Given the description of an element on the screen output the (x, y) to click on. 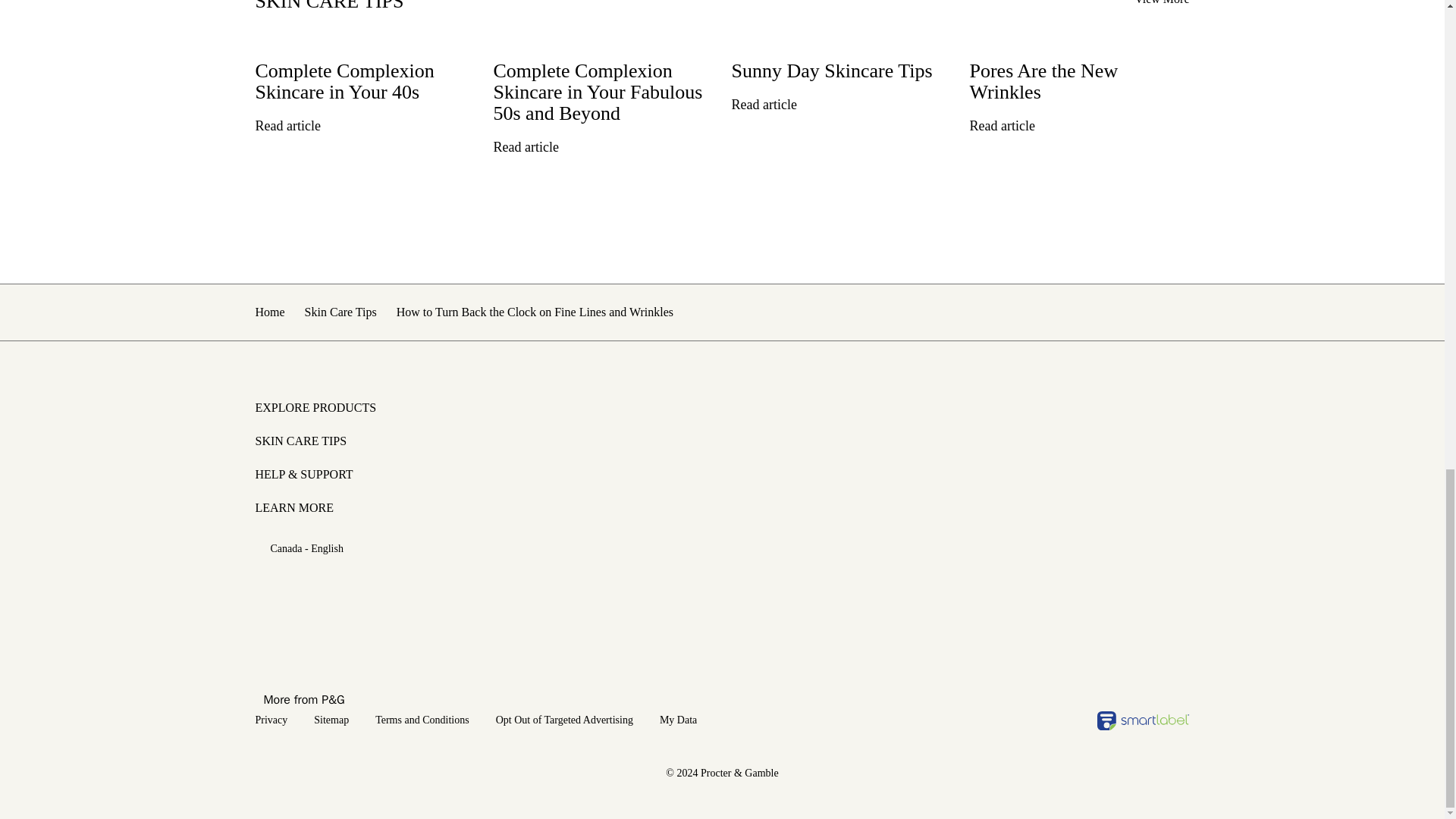
How to Turn Back the Clock on Fine Lines and Wrinkles (534, 312)
Complete Complexion Skincare in Your Fabulous 50s and Beyond (603, 86)
Read article (536, 146)
Home (268, 312)
Complete Complexion Skincare in Your Fabulous 50s and Beyond (603, 86)
Complete Complexion Skincare in Your 40s (364, 75)
Sunny Day Skincare Tips (840, 65)
Read article (1012, 125)
Complete Complexion Skincare in Your 40s (364, 75)
View More (1161, 2)
